Given the description of an element on the screen output the (x, y) to click on. 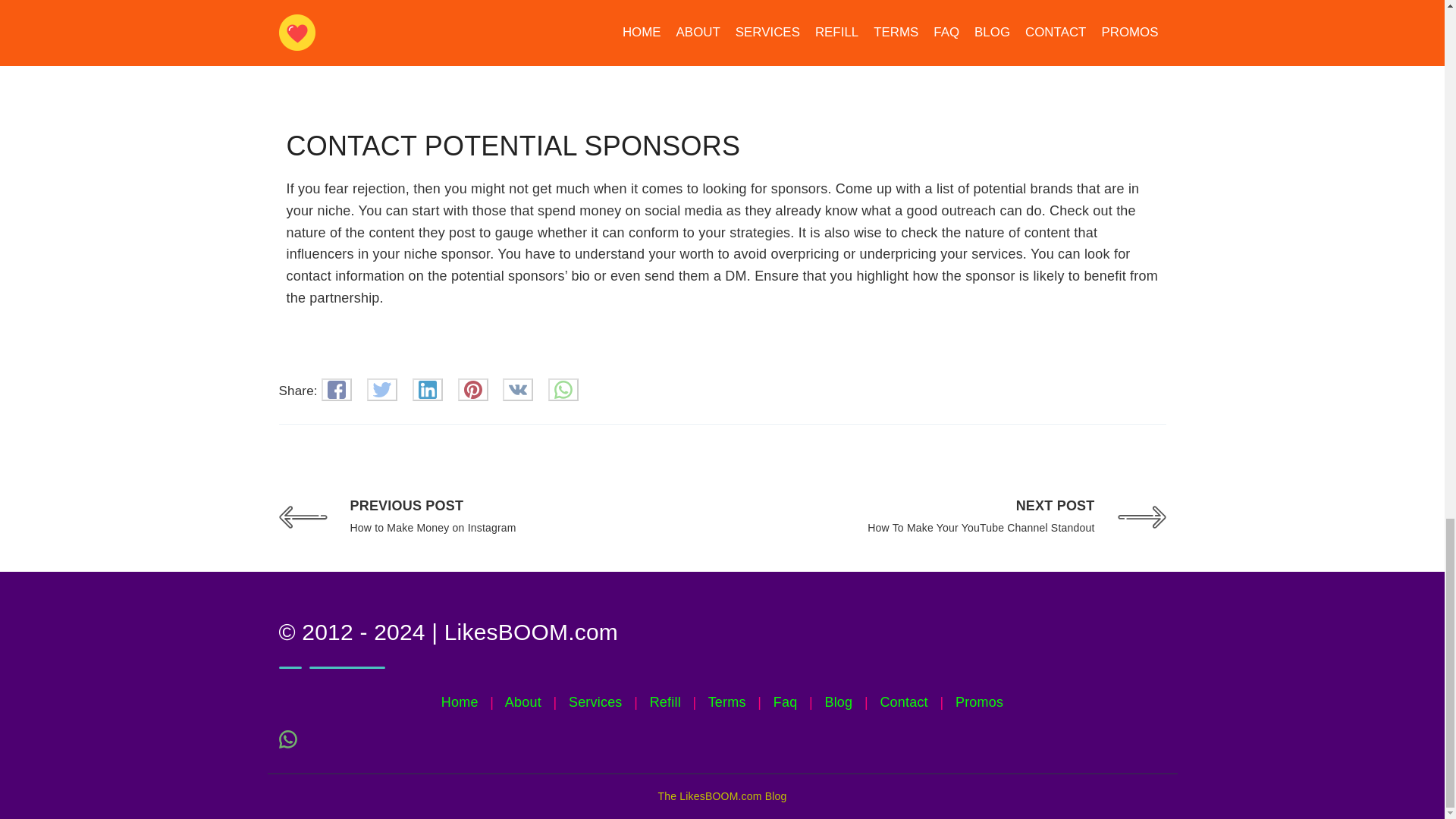
About (523, 702)
Promos (979, 702)
Refill (665, 702)
Faq (966, 517)
Services (785, 702)
Blog (596, 702)
Terms (837, 702)
Contact (726, 702)
